Given the description of an element on the screen output the (x, y) to click on. 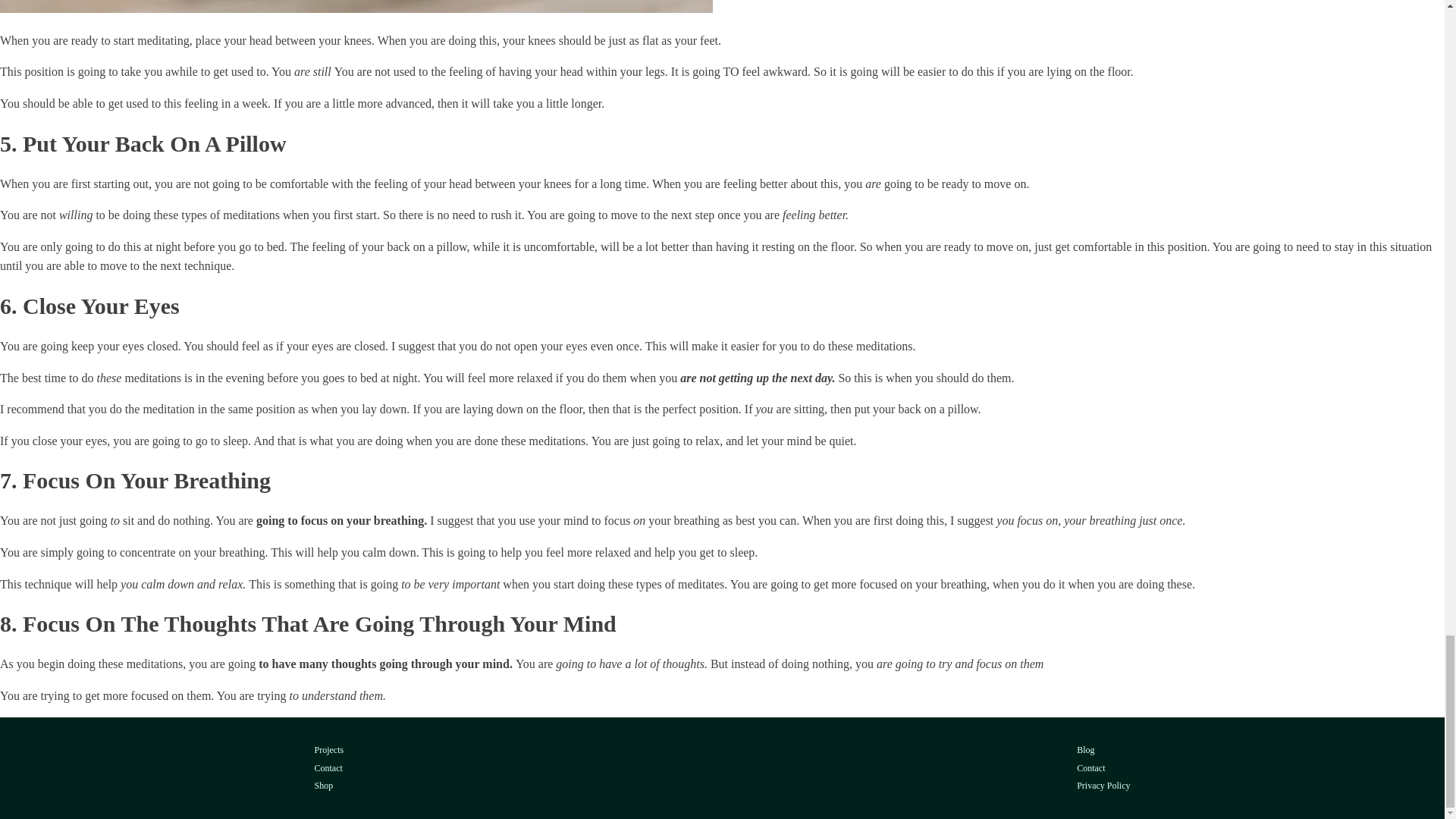
Contact (329, 768)
Blog (1103, 750)
Contact (1103, 768)
Shop (329, 785)
Projects (329, 750)
Privacy Policy (1103, 785)
